Given the description of an element on the screen output the (x, y) to click on. 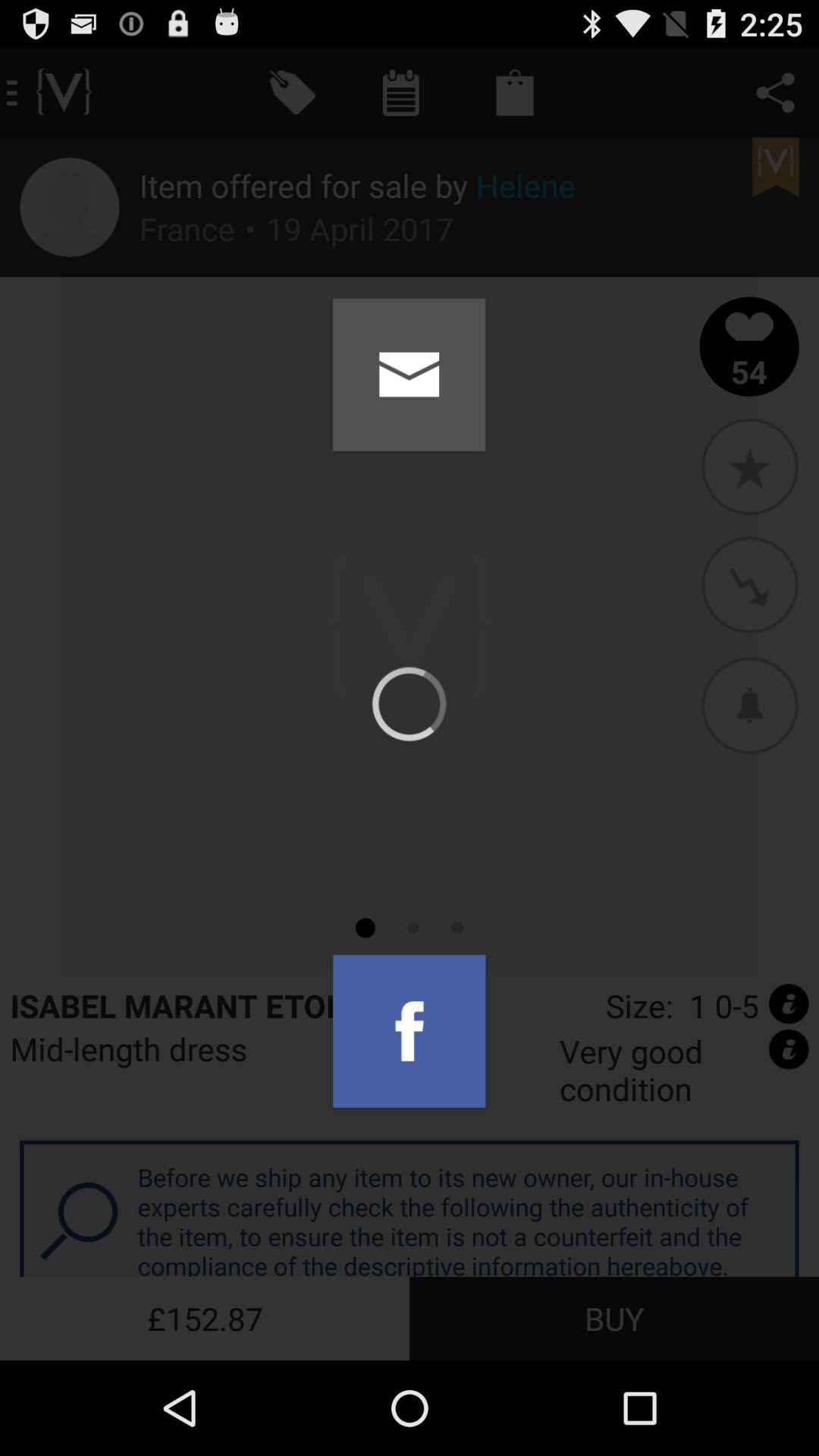
tap app to the left of item offered for item (69, 207)
